Given the description of an element on the screen output the (x, y) to click on. 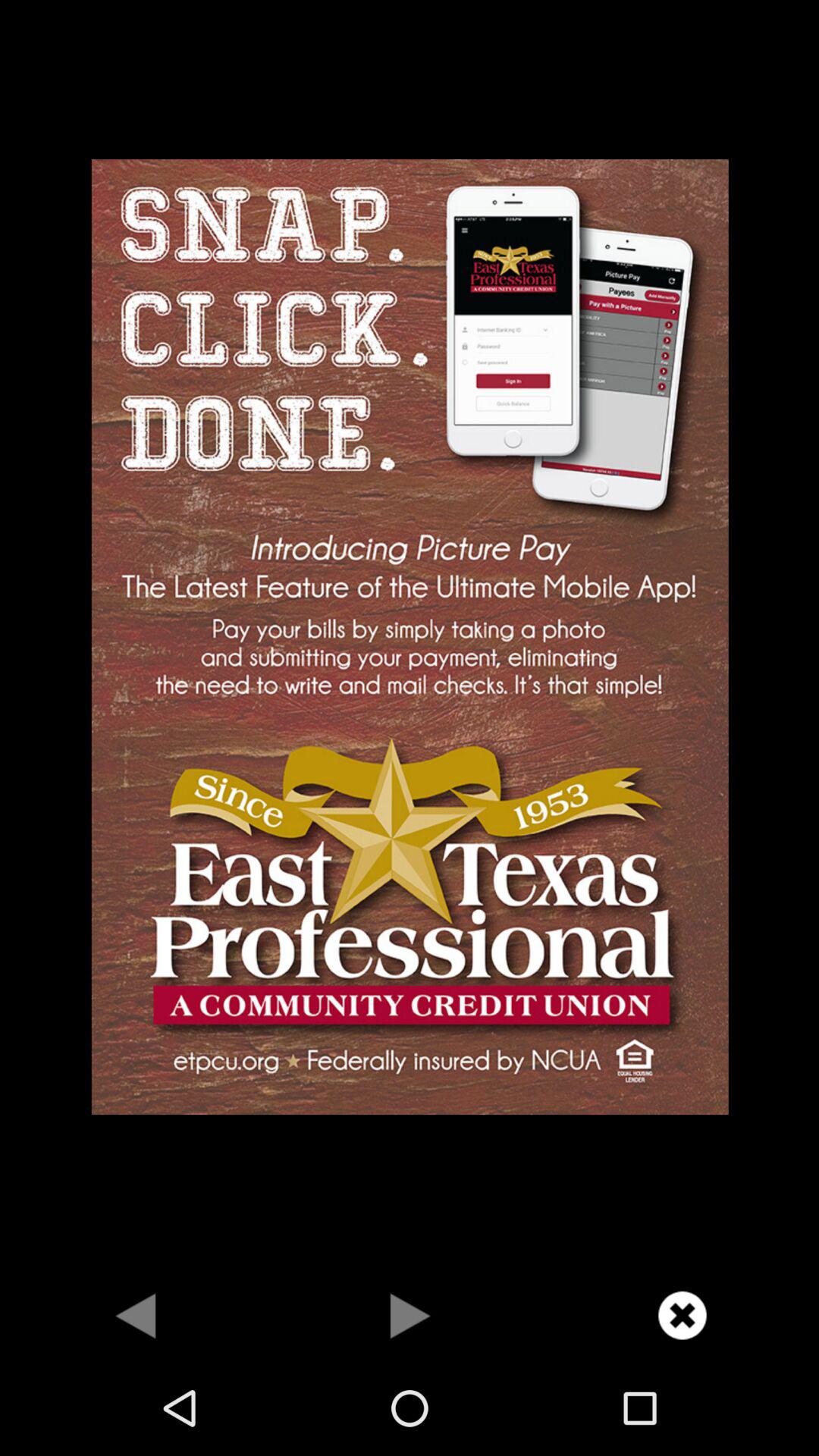
select play buttion (409, 1315)
